Given the description of an element on the screen output the (x, y) to click on. 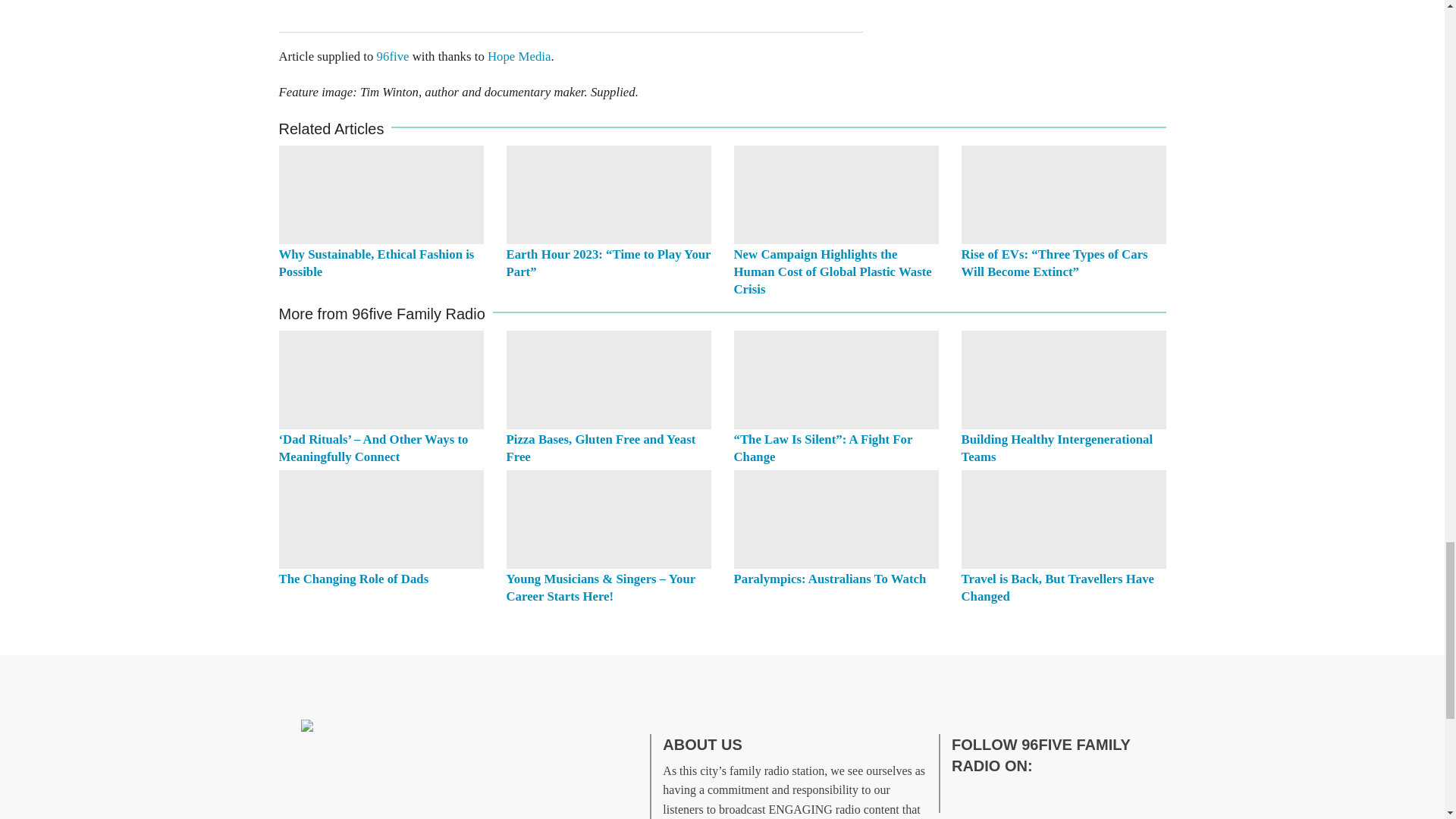
Why Sustainable, Ethical Fashion is Possible (376, 263)
Pizza Bases, Gluten Free and Yeast Free (608, 379)
Why Sustainable, Ethical Fashion is Possible (381, 194)
Pizza Bases, Gluten Free and Yeast Free (600, 448)
